Given the description of an element on the screen output the (x, y) to click on. 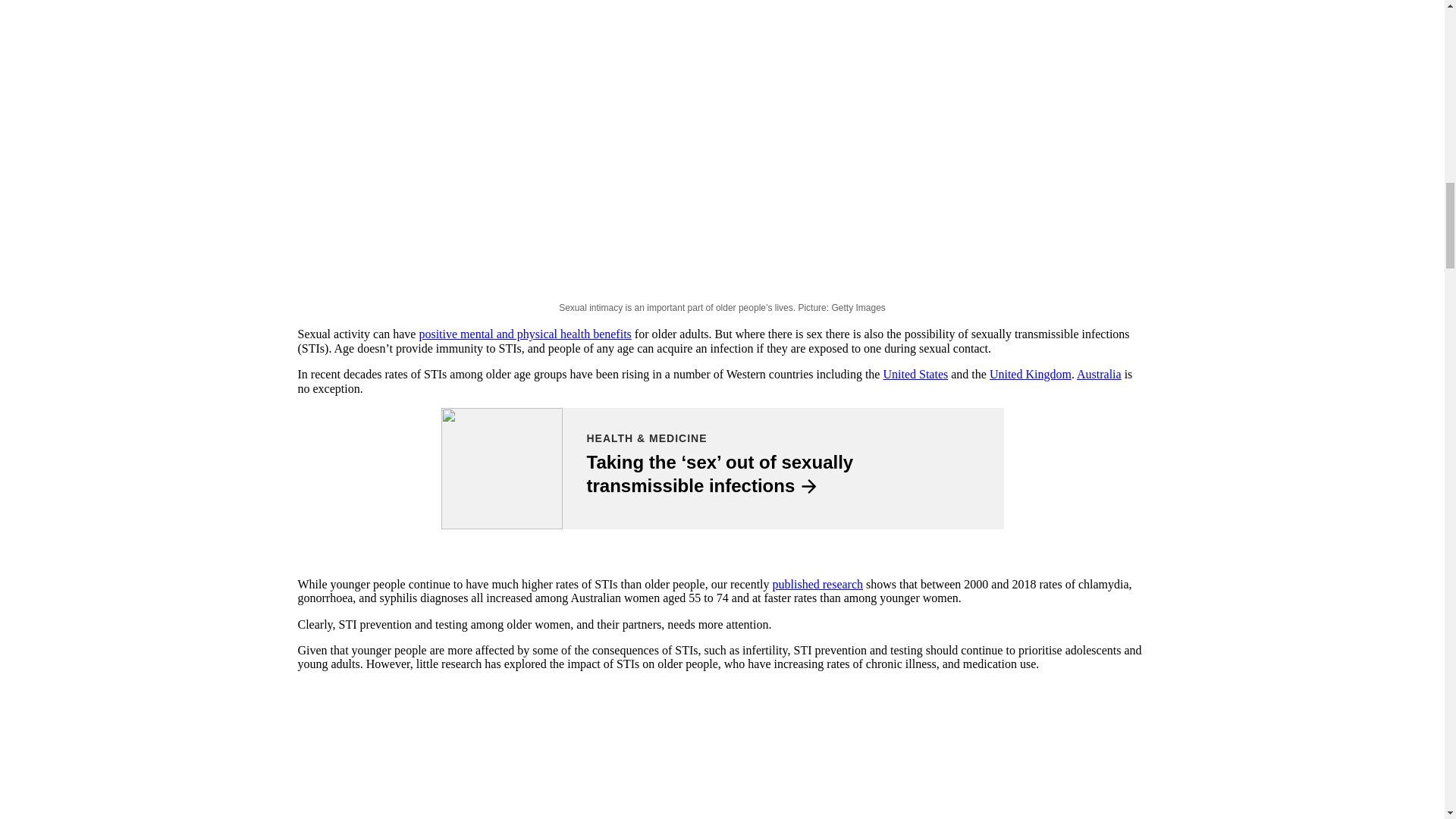
Australia (1099, 373)
positive mental and physical health benefits (524, 333)
published research (818, 584)
United States (914, 373)
United Kingdom (1030, 373)
